Given the description of an element on the screen output the (x, y) to click on. 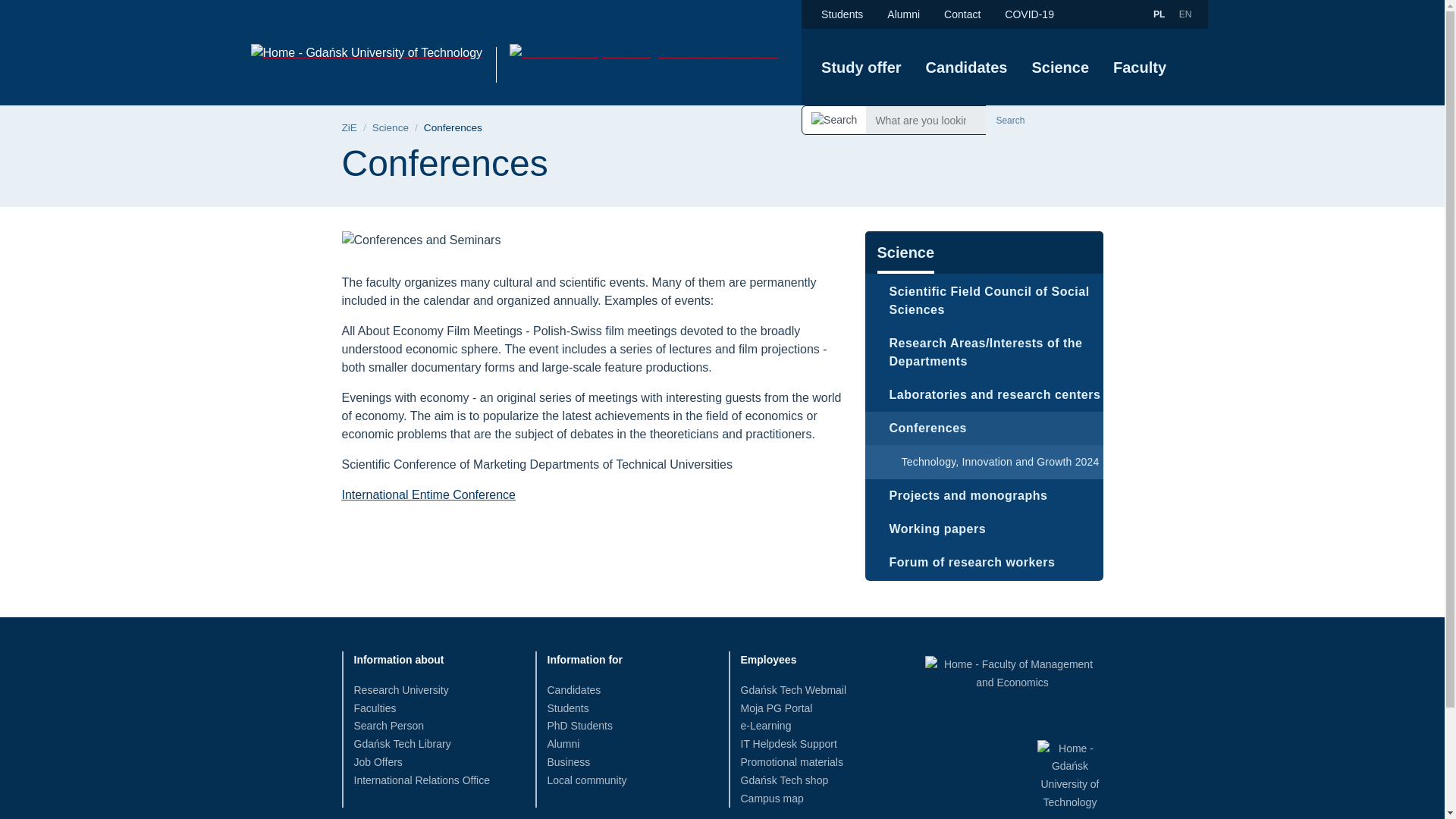
Search (1009, 120)
Enter the terms you wish to search for. (925, 120)
Back to ZiE (348, 127)
Back to Science (390, 127)
Search (1009, 120)
